Given the description of an element on the screen output the (x, y) to click on. 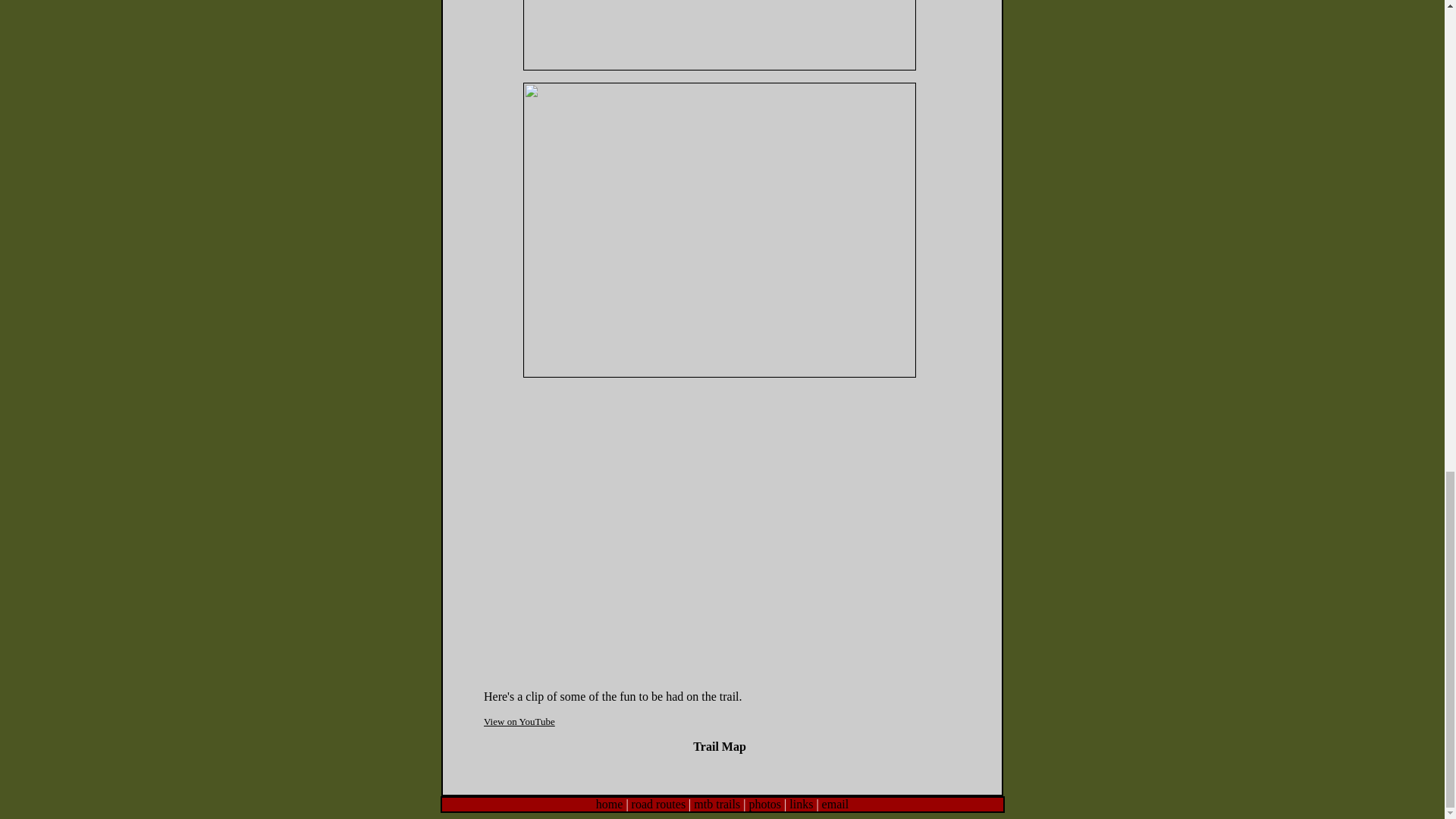
links (799, 803)
email (835, 803)
Trail Map (719, 746)
photos (764, 803)
mtb trails (716, 803)
home (609, 803)
View on YouTube (518, 721)
road routes (658, 803)
